Given the description of an element on the screen output the (x, y) to click on. 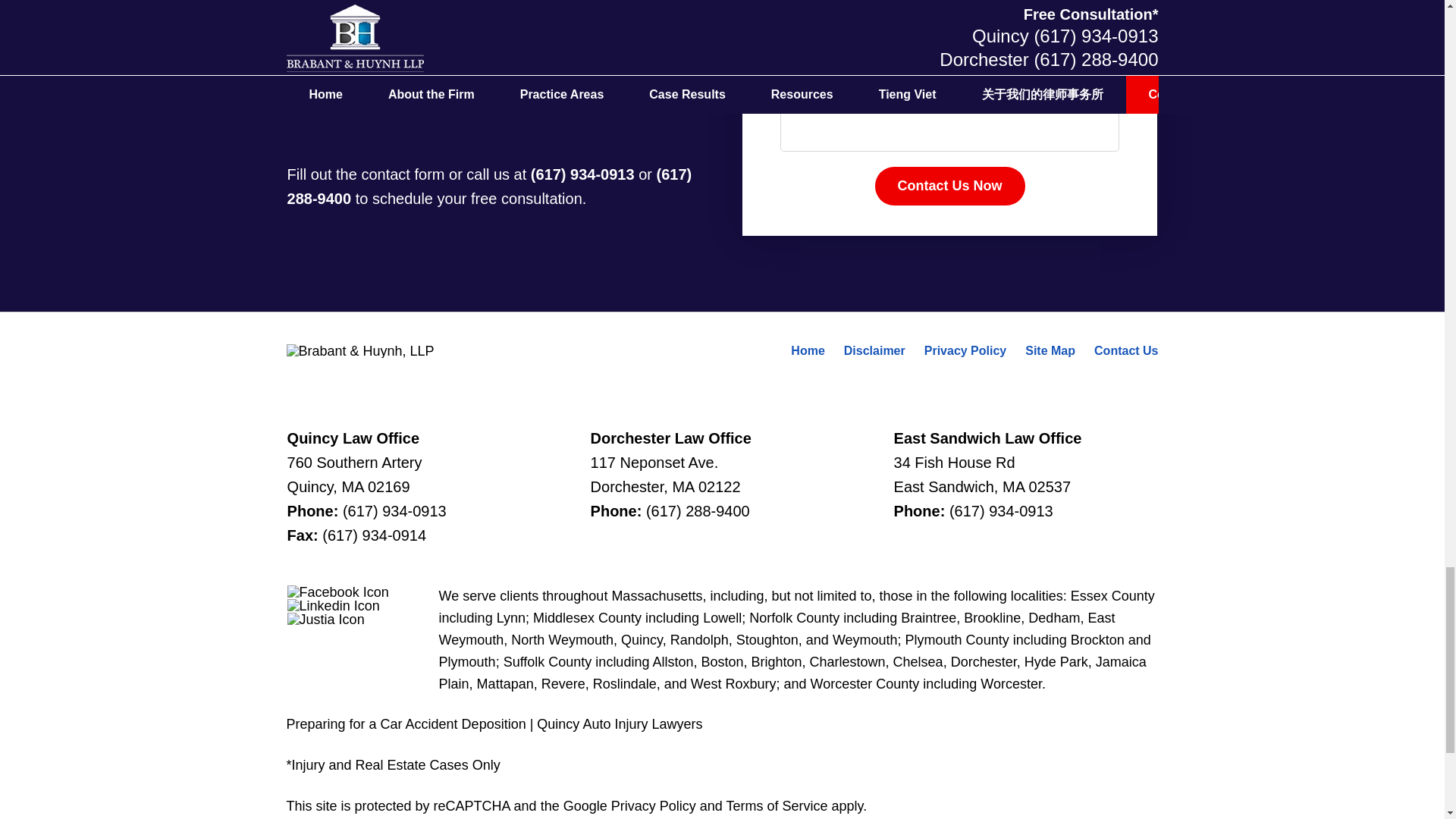
Facebook (337, 591)
Justia (325, 619)
Linkedin (333, 605)
Contact Us Now (950, 186)
